Given the description of an element on the screen output the (x, y) to click on. 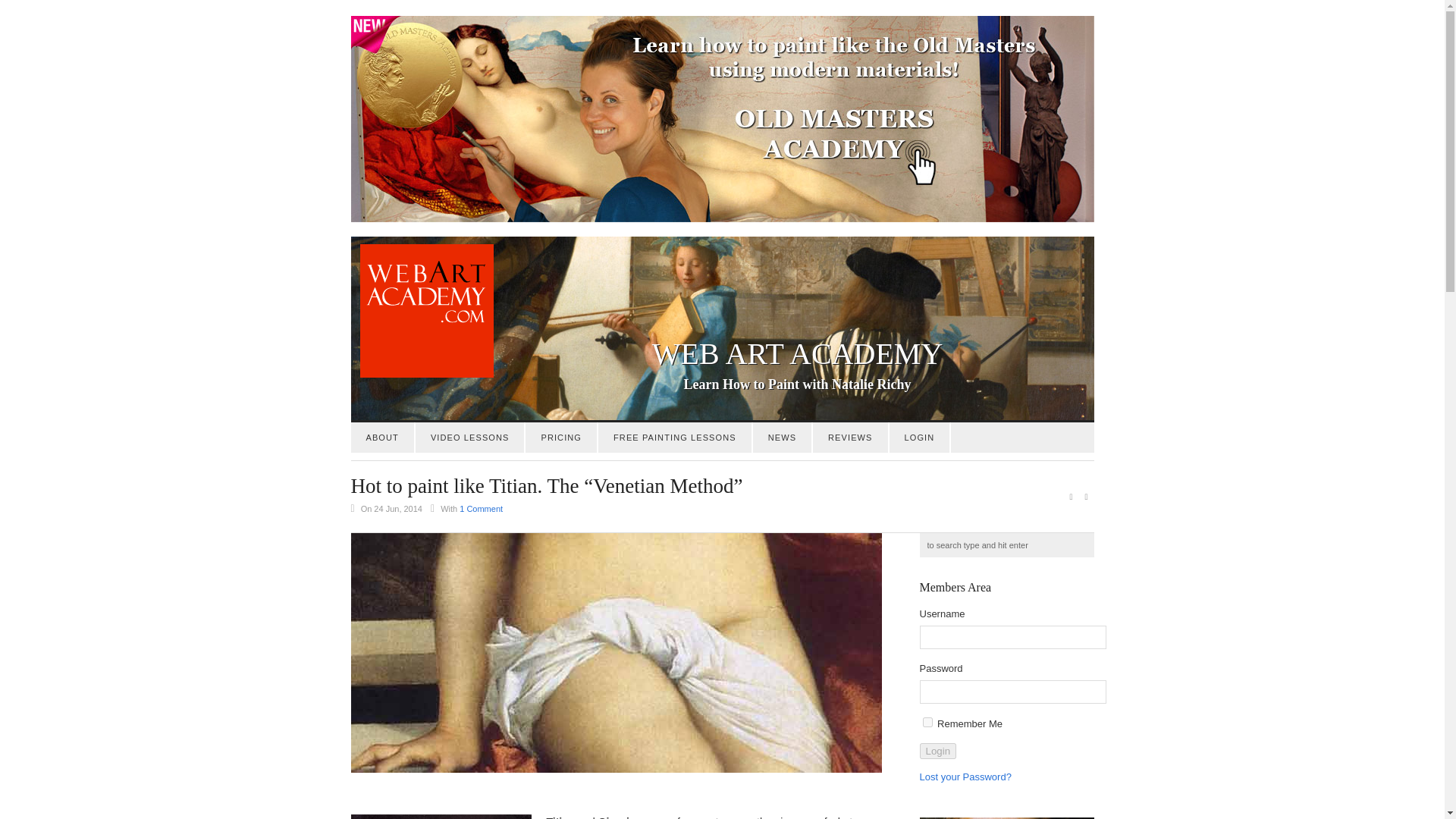
1 Comment (481, 508)
forever (926, 722)
ABOUT (381, 437)
to search type and hit enter (1005, 545)
FREE PAINTING LESSONS (674, 437)
PRICING (560, 437)
Login (937, 750)
WEB ART ACADEMY (721, 353)
REVIEWS (849, 437)
VIDEO LESSONS (469, 437)
NEWS (781, 437)
LOGIN (919, 437)
Web Art Academy (421, 374)
